Given the description of an element on the screen output the (x, y) to click on. 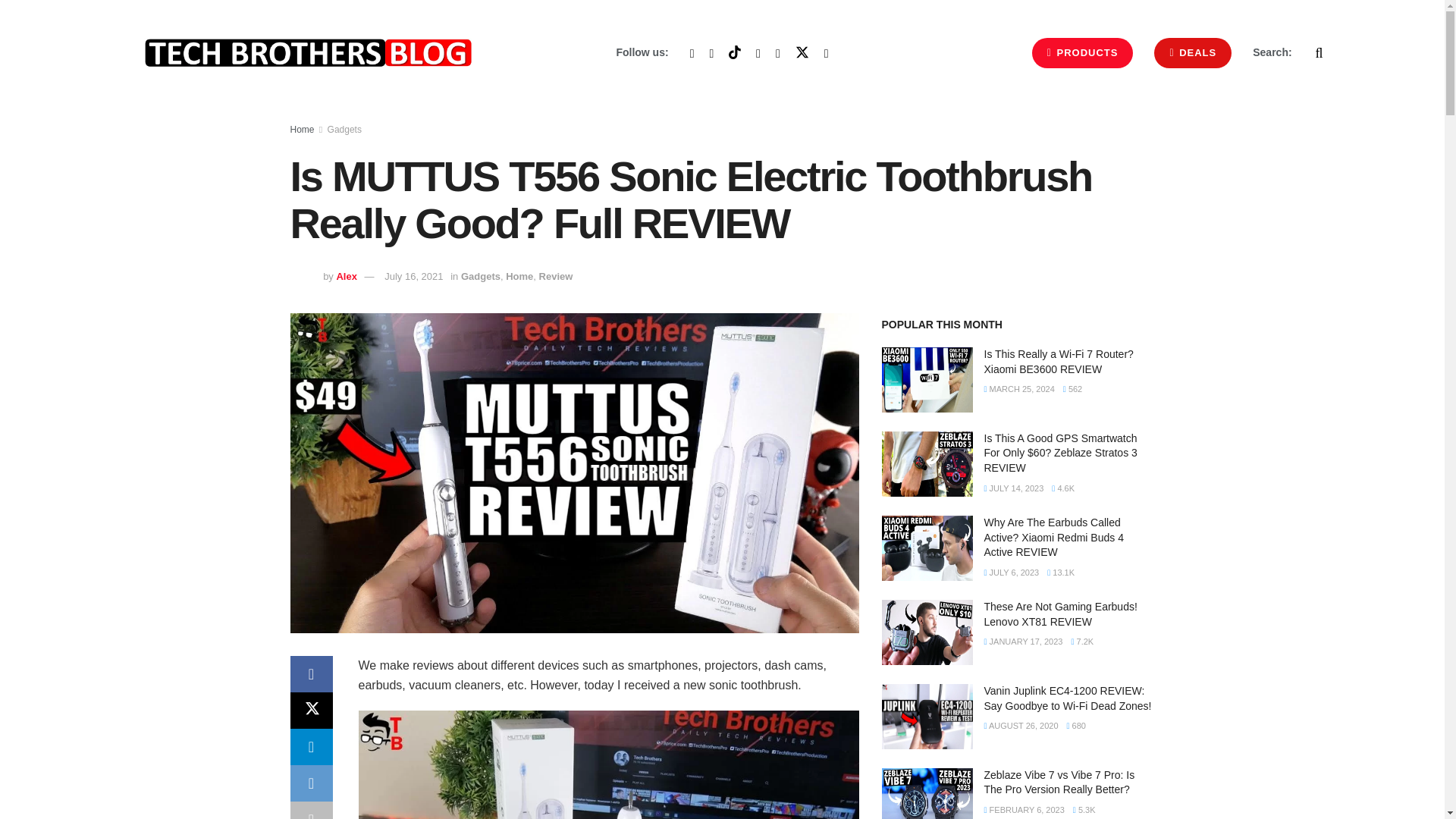
Gadgets (480, 276)
Alex (346, 276)
July 16, 2021 (413, 276)
DEALS (1192, 52)
Review (555, 276)
PRODUCTS (1083, 52)
Home (518, 276)
Gadgets (344, 129)
Home (301, 129)
